Given the description of an element on the screen output the (x, y) to click on. 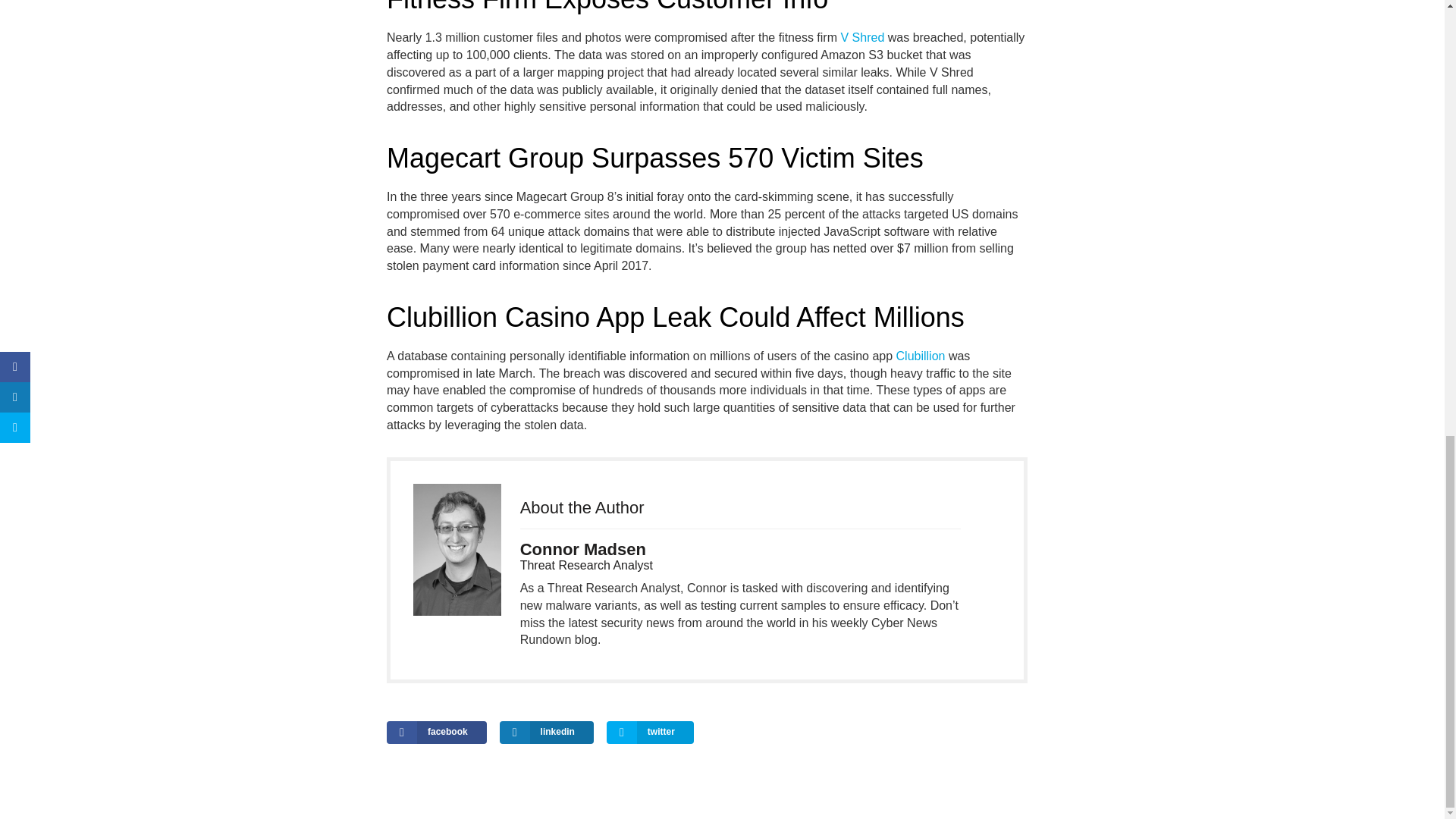
V Shred (861, 37)
Clubillion (920, 355)
Connor Madsen (582, 548)
